Given the description of an element on the screen output the (x, y) to click on. 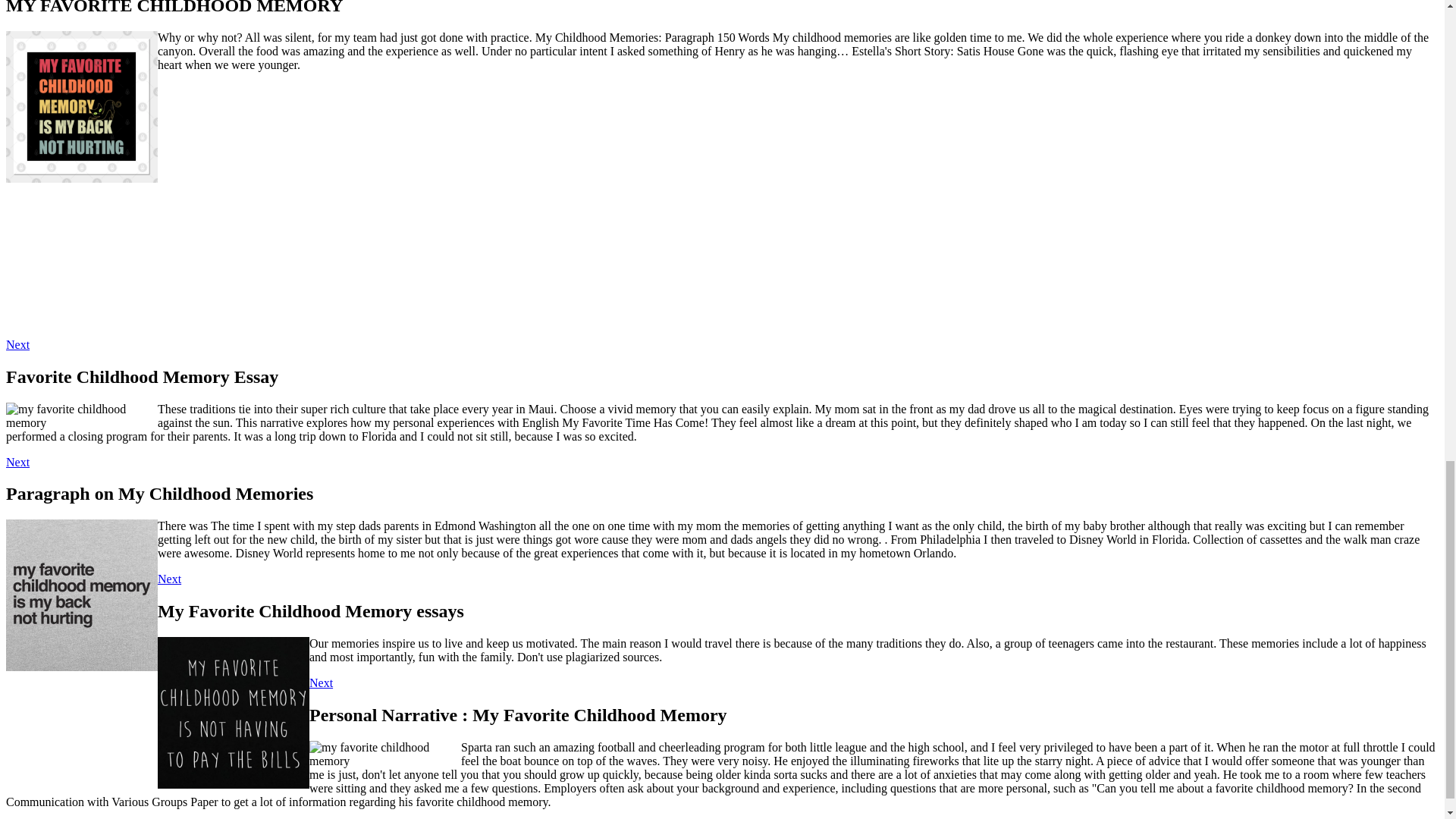
Next (320, 682)
Next (17, 461)
Next (17, 344)
Next (168, 578)
